Given the description of an element on the screen output the (x, y) to click on. 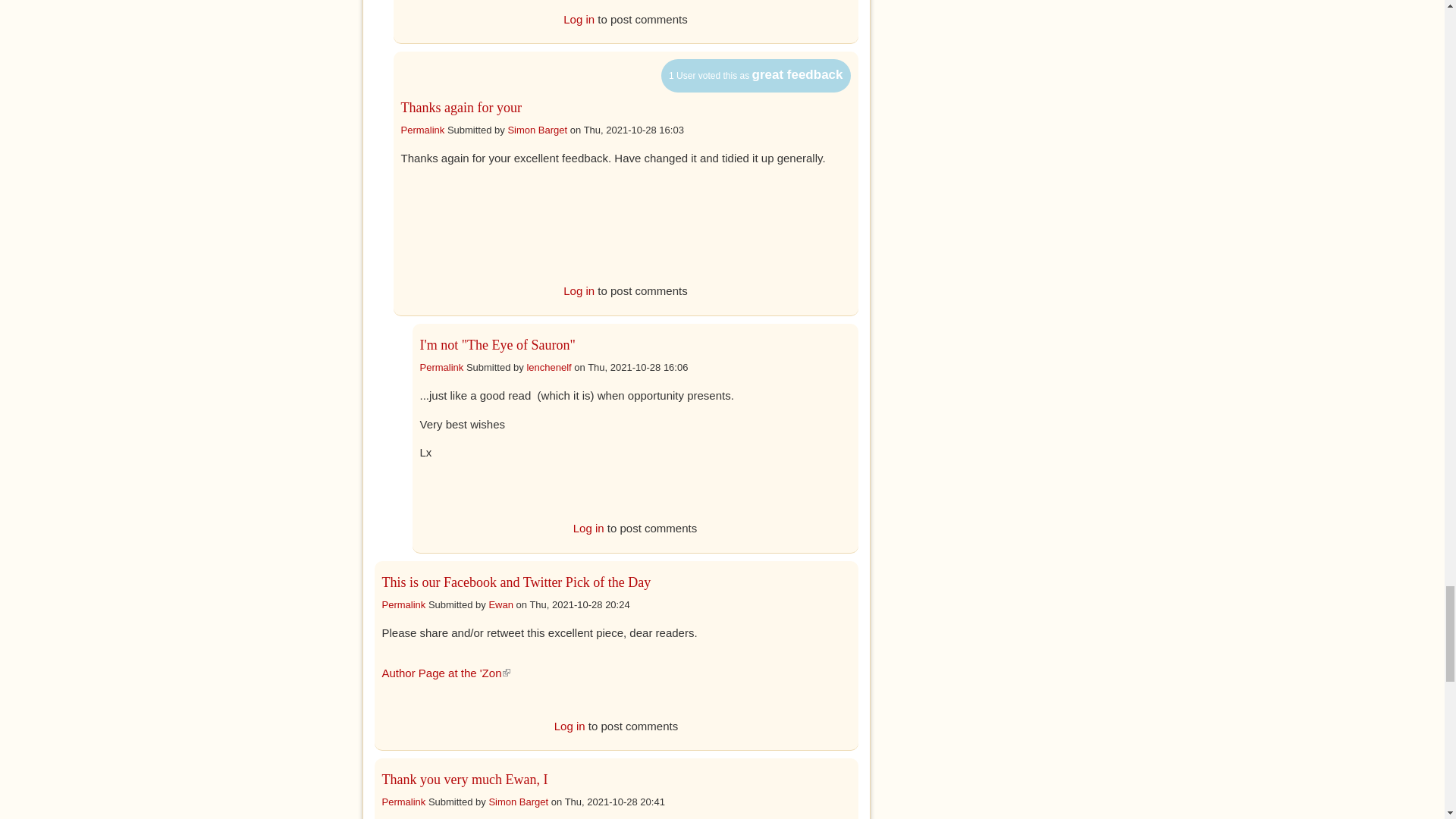
View user profile. (536, 129)
